Given the description of an element on the screen output the (x, y) to click on. 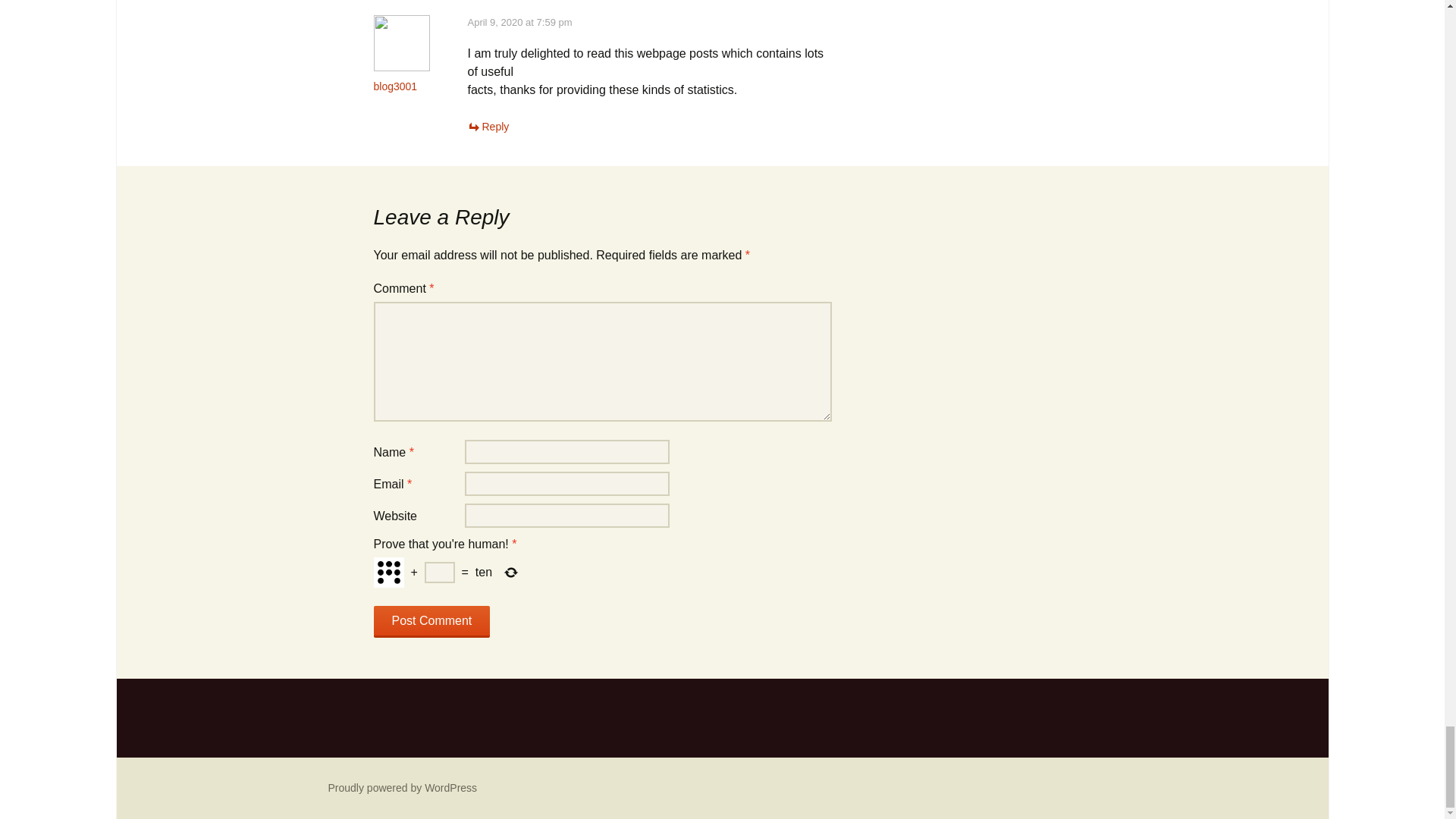
Post Comment (430, 622)
Post Comment (430, 622)
Reply (487, 126)
blog3001 (394, 86)
April 9, 2020 at 7:59 pm (519, 21)
